Given the description of an element on the screen output the (x, y) to click on. 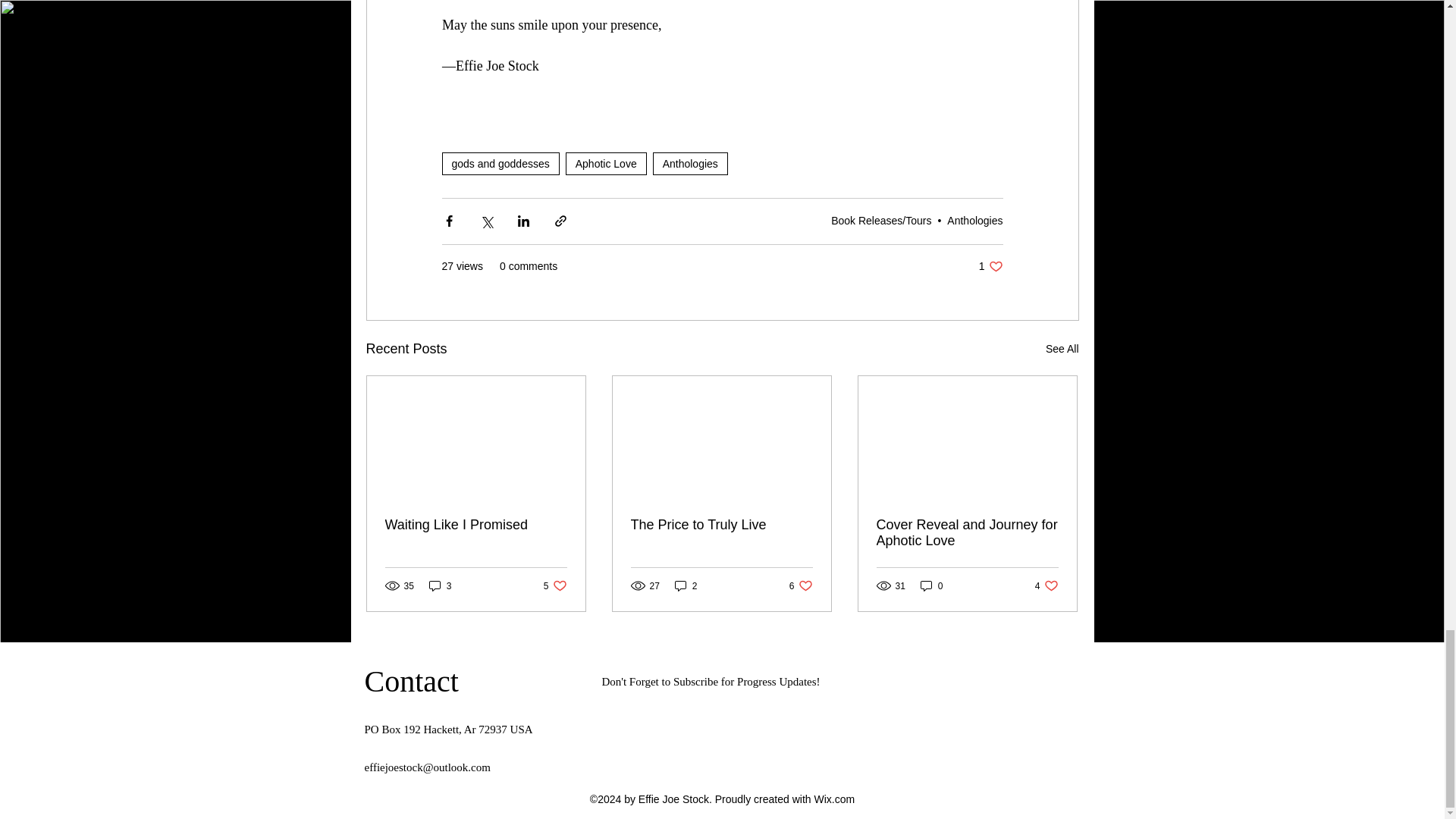
Anthologies (975, 220)
Anthologies (990, 266)
See All (690, 163)
Aphotic Love (1061, 349)
gods and goddesses (606, 163)
